Given the description of an element on the screen output the (x, y) to click on. 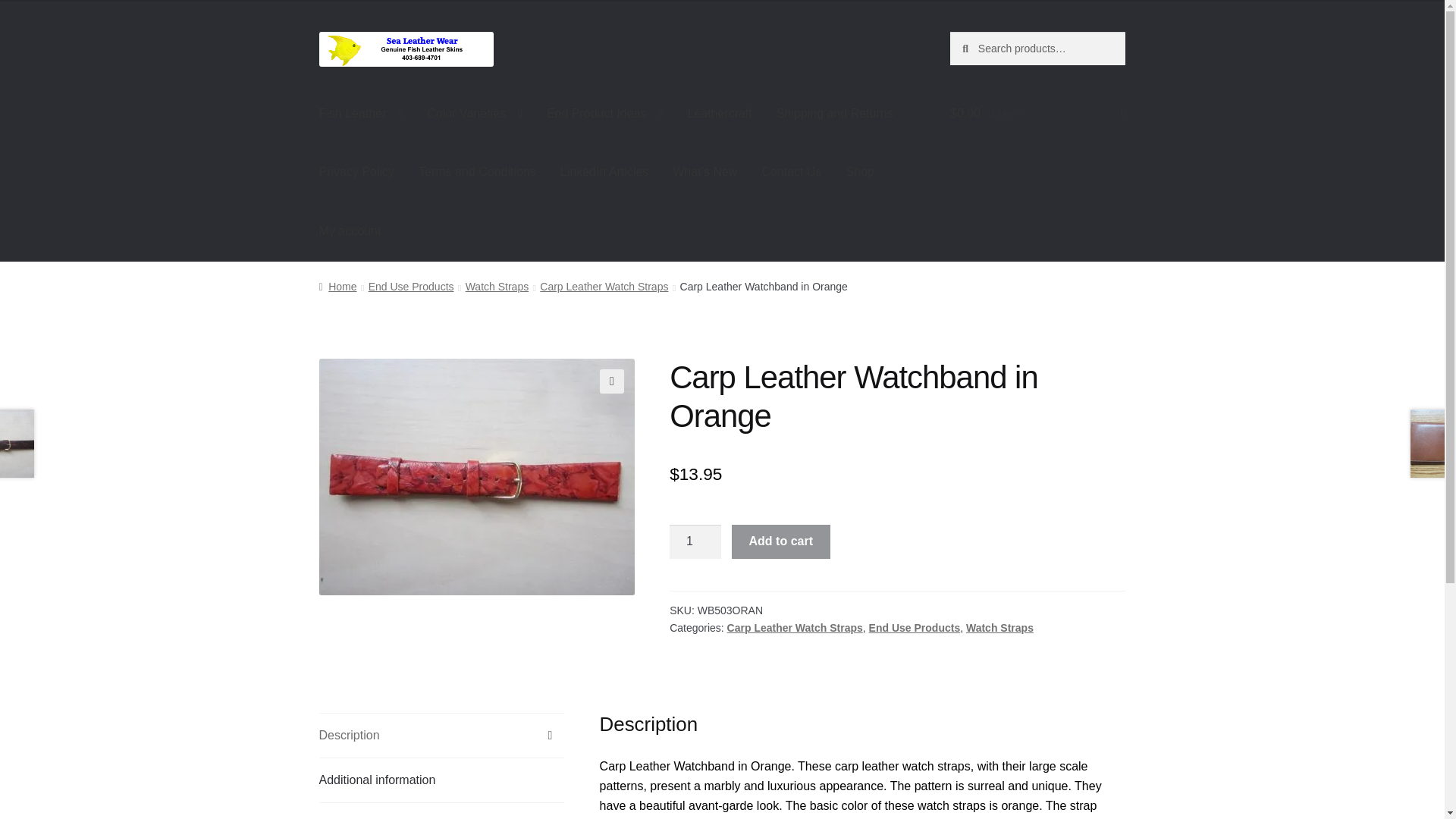
Color Varieties (474, 113)
Leathercraft (718, 113)
Privacy Policy (357, 172)
View your shopping cart (1037, 113)
carp-watchband-orange-700.jpg (476, 476)
1 (694, 541)
End Product Ideas (604, 113)
Contact Us (790, 172)
My account (350, 231)
